Given the description of an element on the screen output the (x, y) to click on. 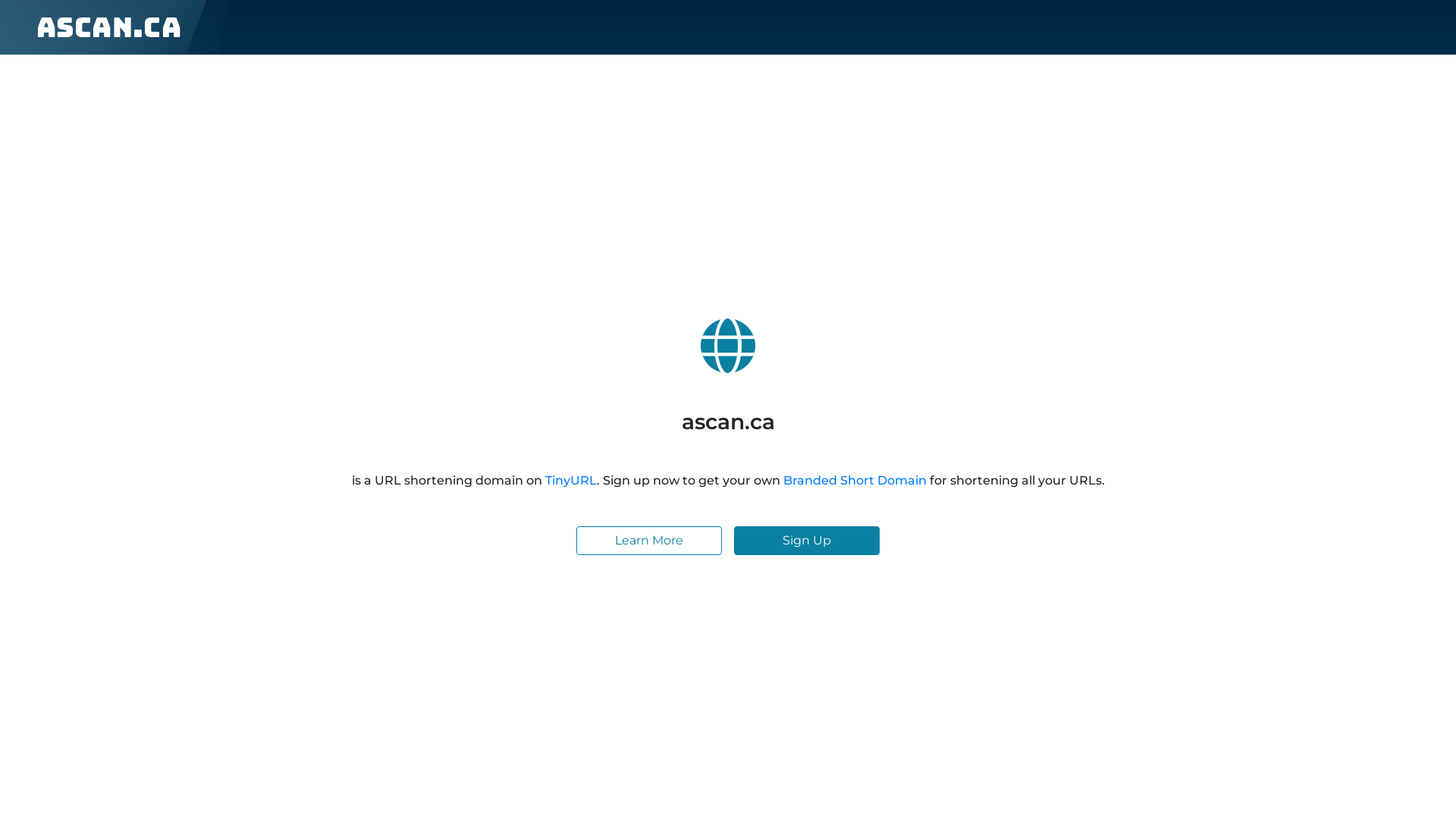
Branded Short Domain Element type: text (853, 480)
ascan.ca Element type: text (108, 27)
TinyURL Element type: text (570, 480)
Sign Up Element type: text (806, 540)
Learn More Element type: text (648, 540)
